Given the description of an element on the screen output the (x, y) to click on. 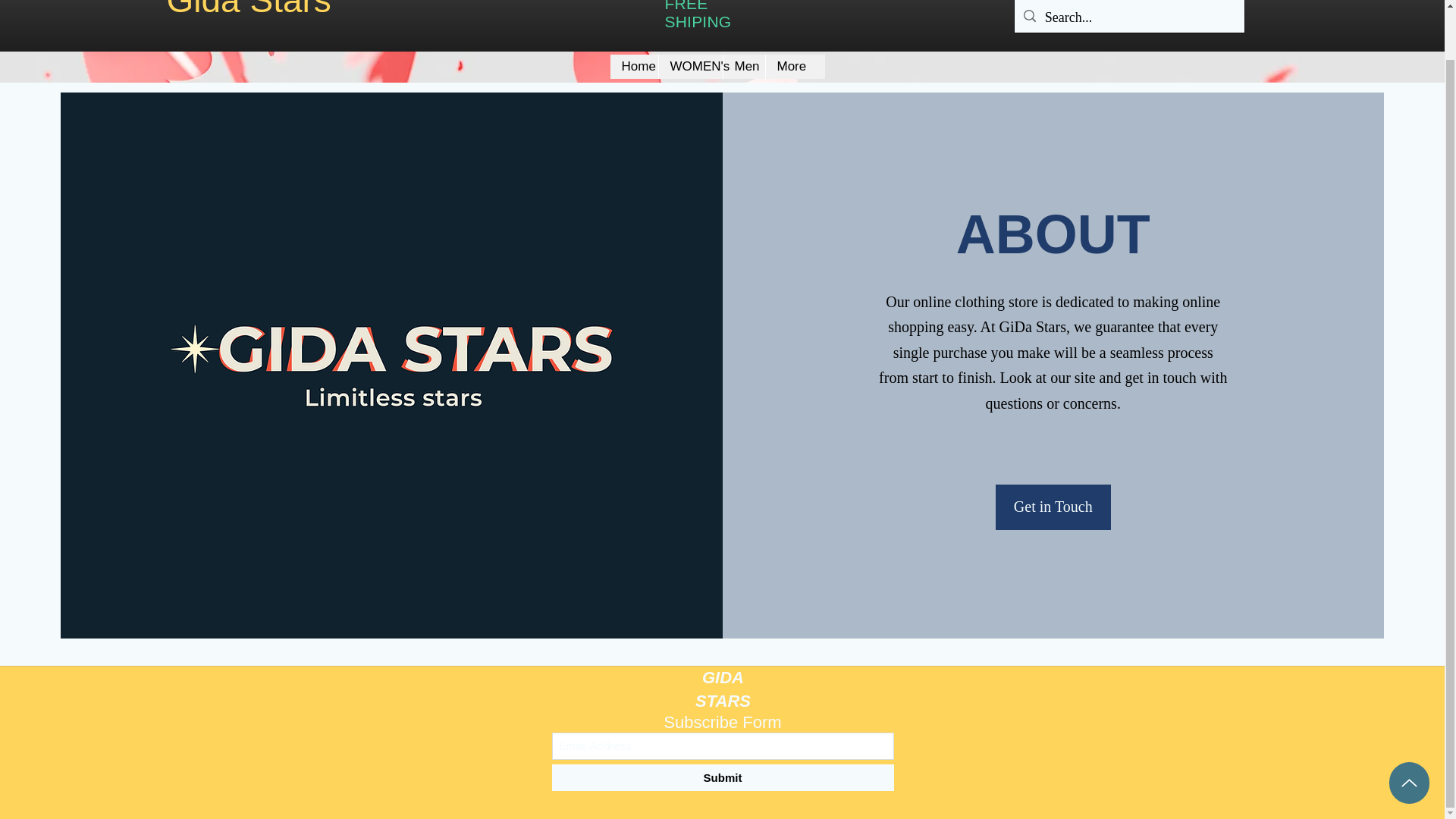
WOMEN's (690, 66)
Submit (722, 777)
Men (743, 66)
Get in Touch (1052, 506)
Home (634, 66)
